Given the description of an element on the screen output the (x, y) to click on. 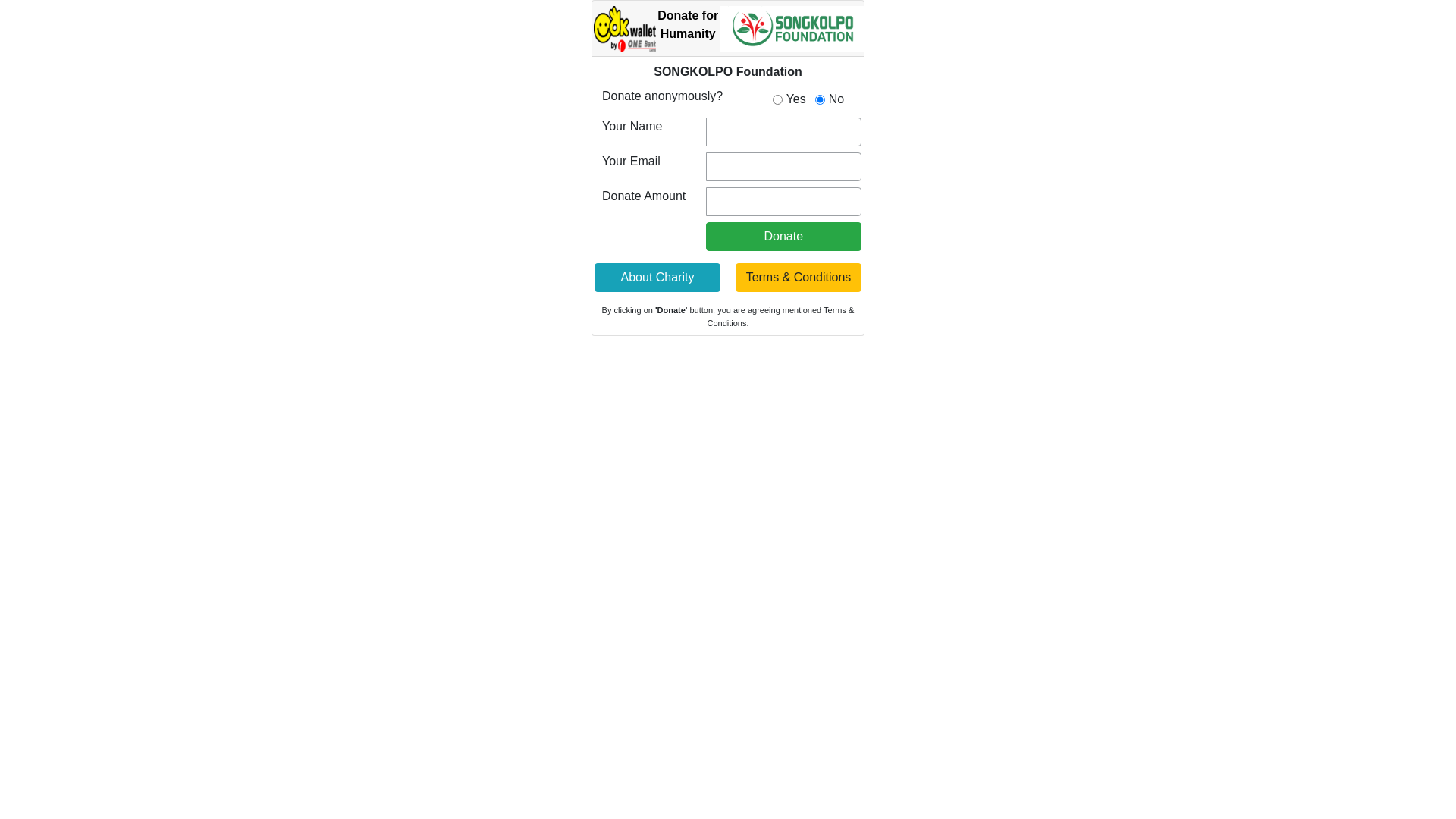
Donate Element type: text (783, 236)
